Given the description of an element on the screen output the (x, y) to click on. 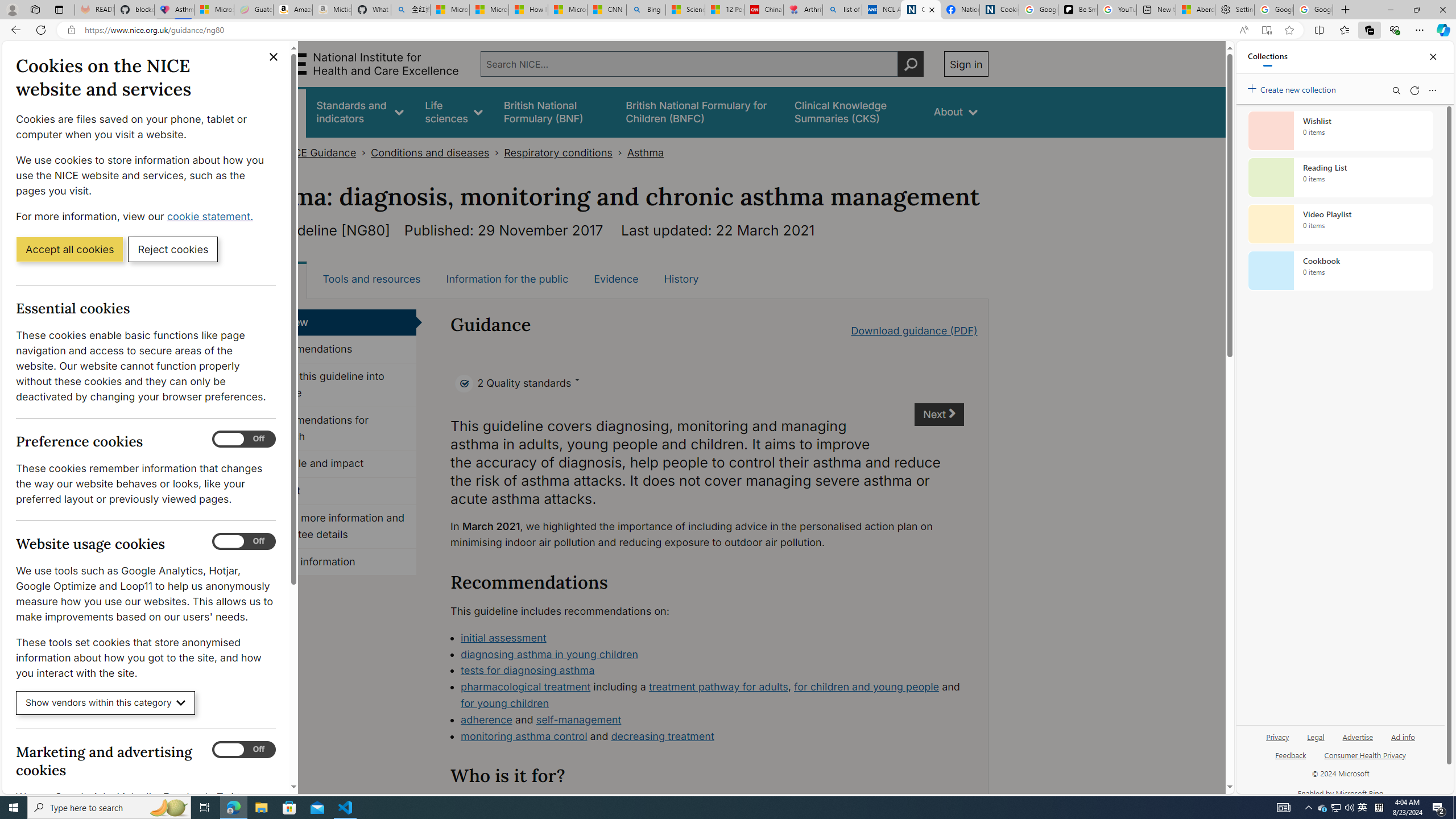
Create new collection (1293, 87)
More options menu (1432, 90)
Putting this guideline into practice (333, 385)
tests for diagnosing asthma (711, 670)
Overview (333, 321)
Evidence (616, 279)
Cookbook collection, 0 items (1339, 270)
